Given the description of an element on the screen output the (x, y) to click on. 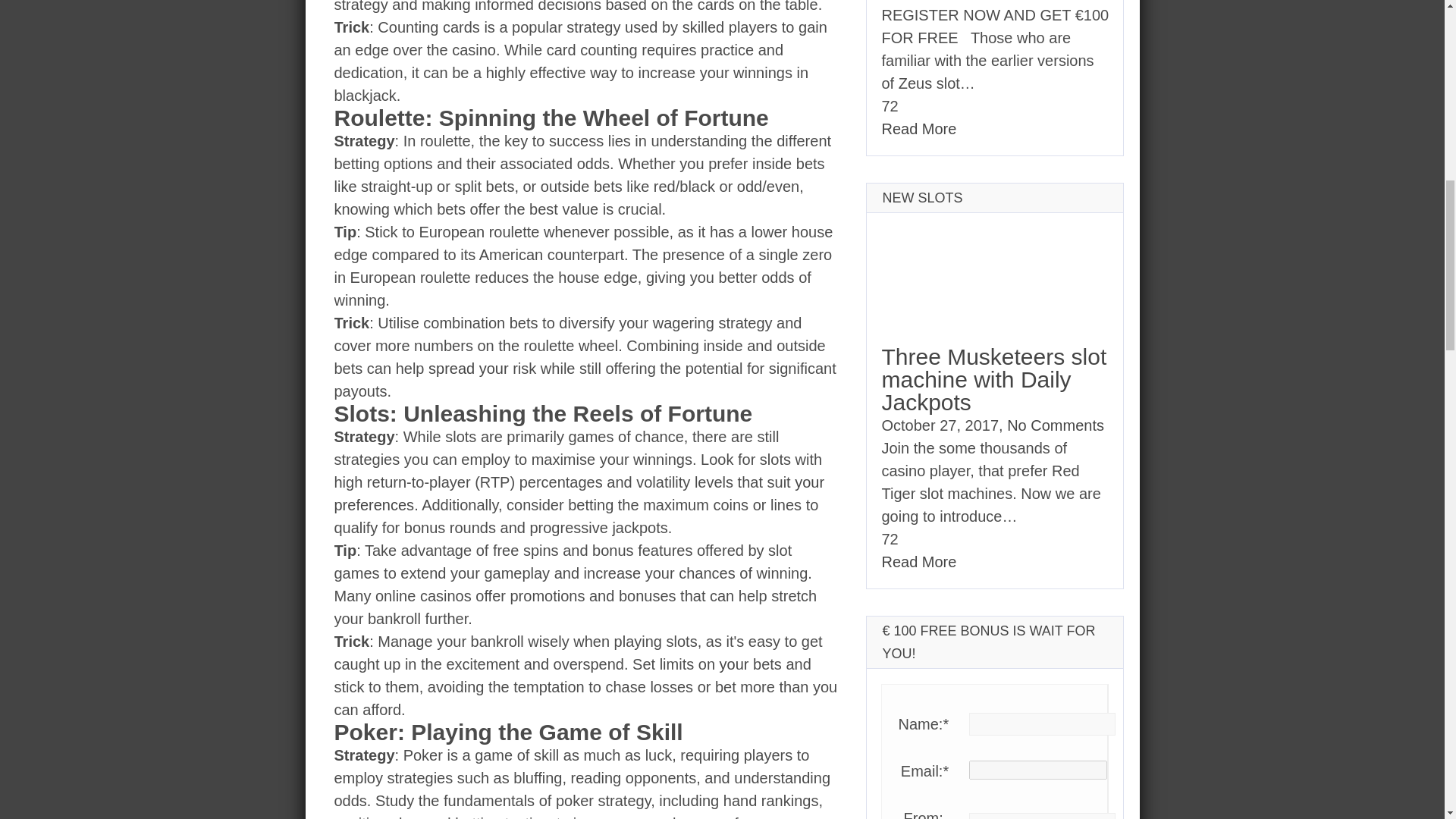
spread your (468, 368)
spread your (468, 368)
your preferences (578, 493)
your (734, 664)
your preferences (578, 493)
your (734, 664)
